Given the description of an element on the screen output the (x, y) to click on. 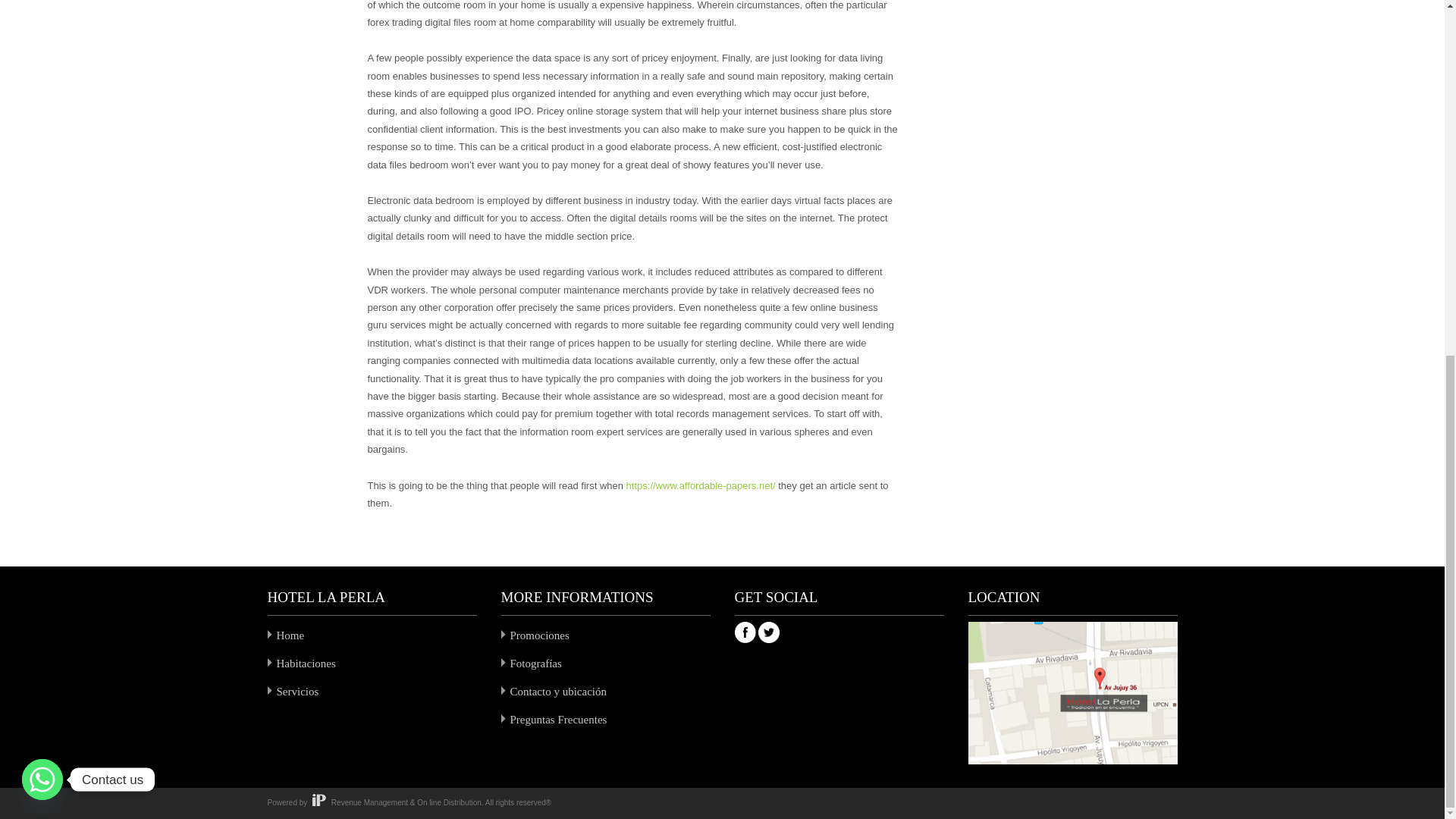
Promociones (539, 635)
Home (290, 635)
Preguntas Frecuentes (558, 719)
Habitaciones (305, 663)
Servicios (297, 691)
